Given the description of an element on the screen output the (x, y) to click on. 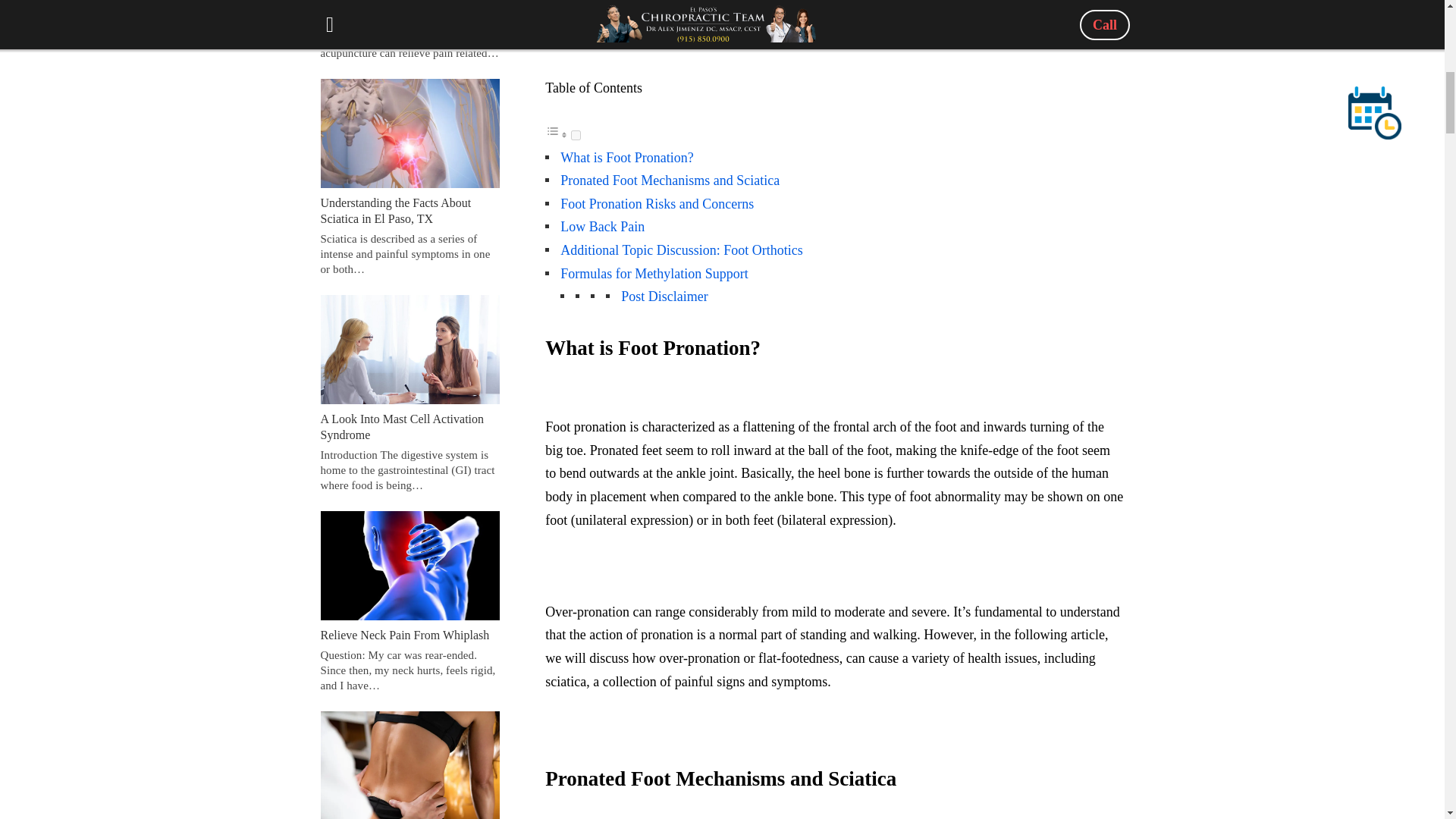
Post Disclaimer (664, 296)
on (575, 135)
Foot Pronation Risks and Concerns (657, 203)
Additional Topic Discussion: Foot Orthotics (681, 249)
Low Back Pain (602, 226)
What is Foot Pronation? (626, 157)
Formulas for Methylation Support (654, 273)
Pronated Foot Mechanisms and Sciatica (669, 180)
